Given the description of an element on the screen output the (x, y) to click on. 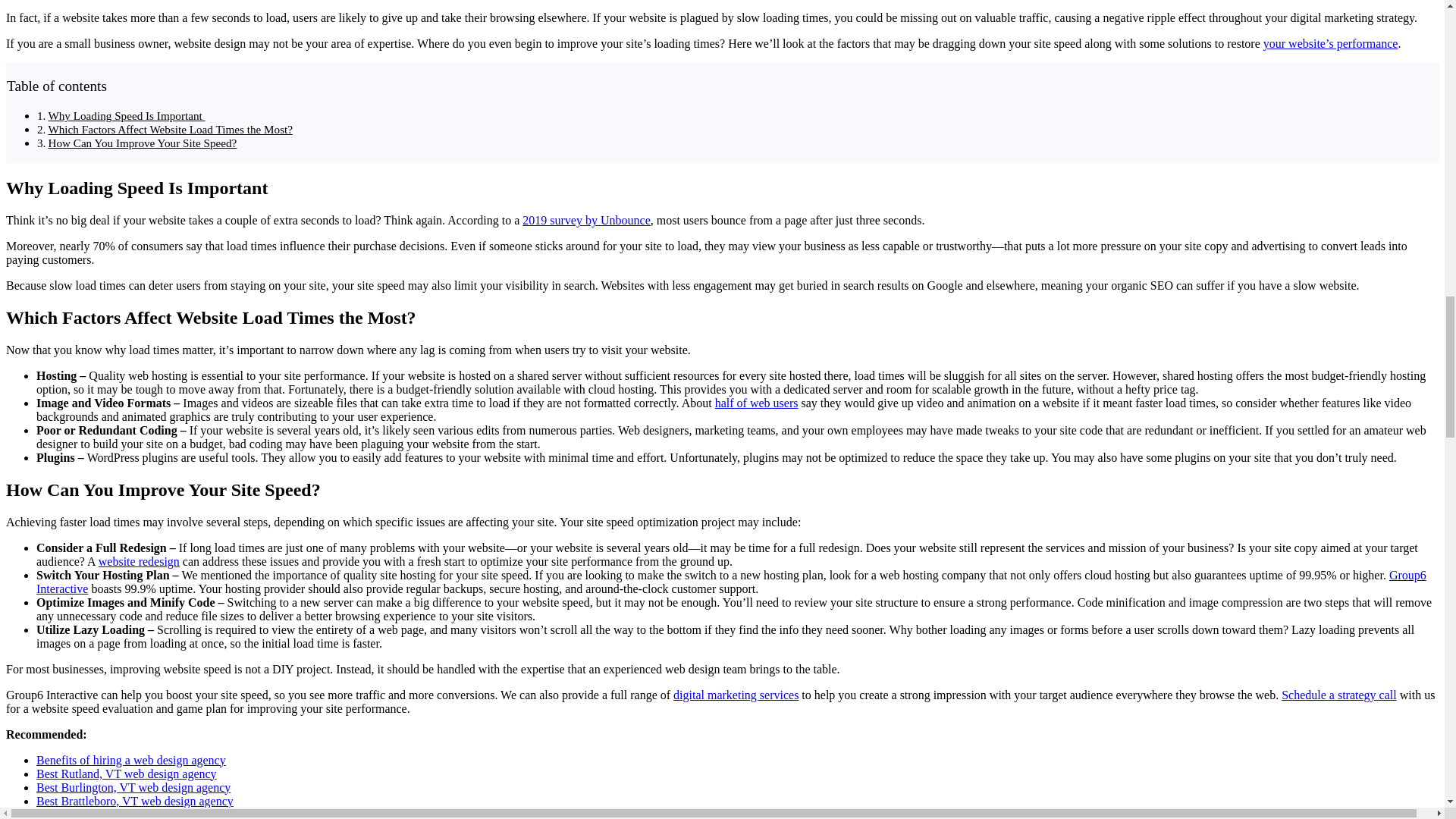
2019 survey by Unbounce (585, 219)
half of web users (755, 402)
Best Rutland, VT web design agency (126, 773)
Why Loading Speed Is Important  (126, 115)
Which Factors Affect Website Load Times the Most? (170, 128)
Which Factors Affect Website Load Times the Most? (170, 128)
Best Burlington, VT web design agency (133, 787)
How Can You Improve Your Site Speed? (141, 142)
Best Brattleboro, VT web design agency (134, 800)
Benefits of hiring a web design agency (130, 759)
website redesign (139, 561)
Group6 Interactive (731, 581)
digital marketing services (734, 694)
Schedule a strategy call (1338, 694)
